Given the description of an element on the screen output the (x, y) to click on. 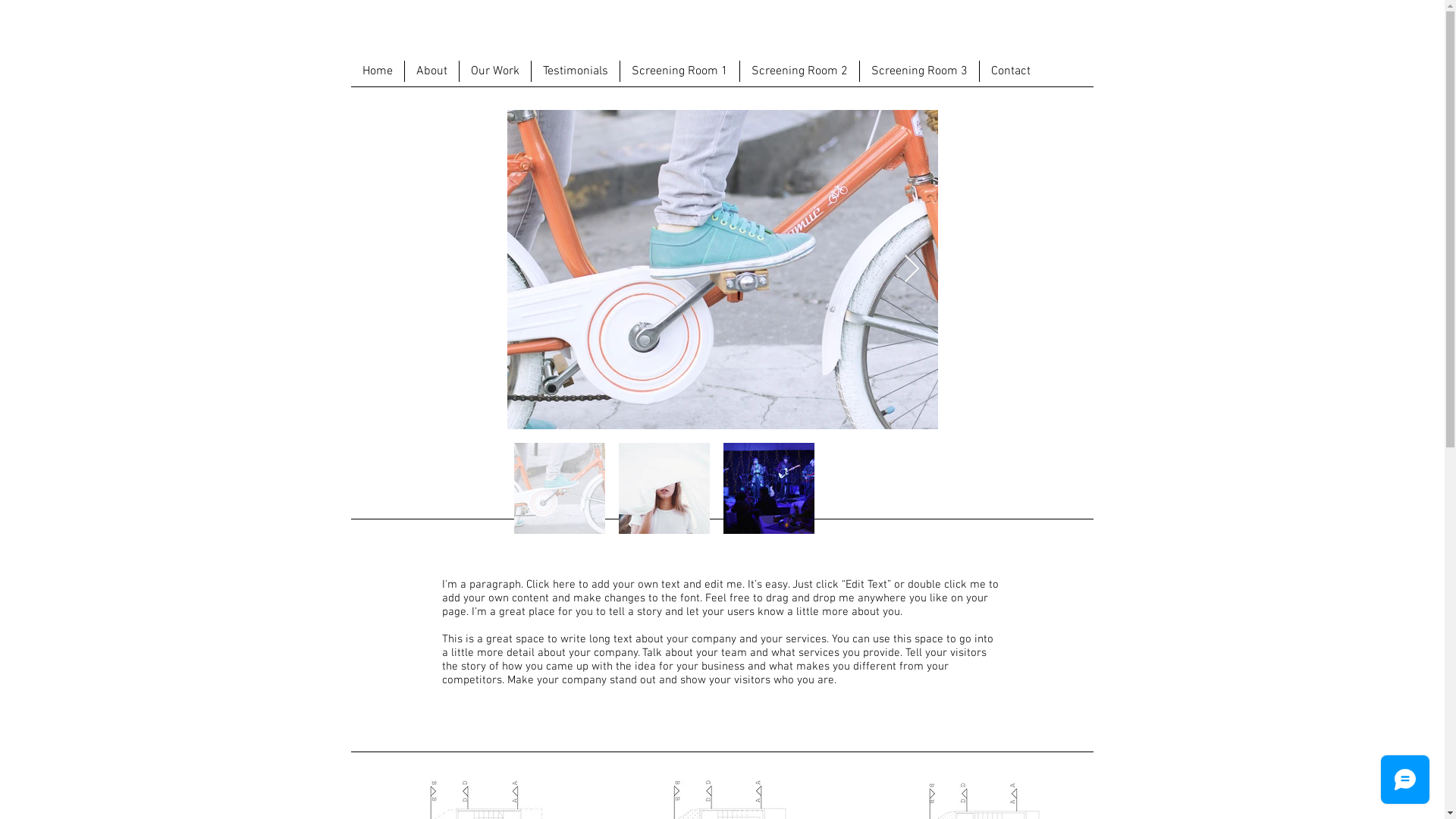
Screening Room 2 Element type: text (798, 70)
Our Work Element type: text (494, 70)
Screening Room 3 Element type: text (918, 70)
Contact Element type: text (1009, 70)
Screening Room 1 Element type: text (678, 70)
About Element type: text (430, 70)
Testimonials Element type: text (574, 70)
Home Element type: text (376, 70)
